Given the description of an element on the screen output the (x, y) to click on. 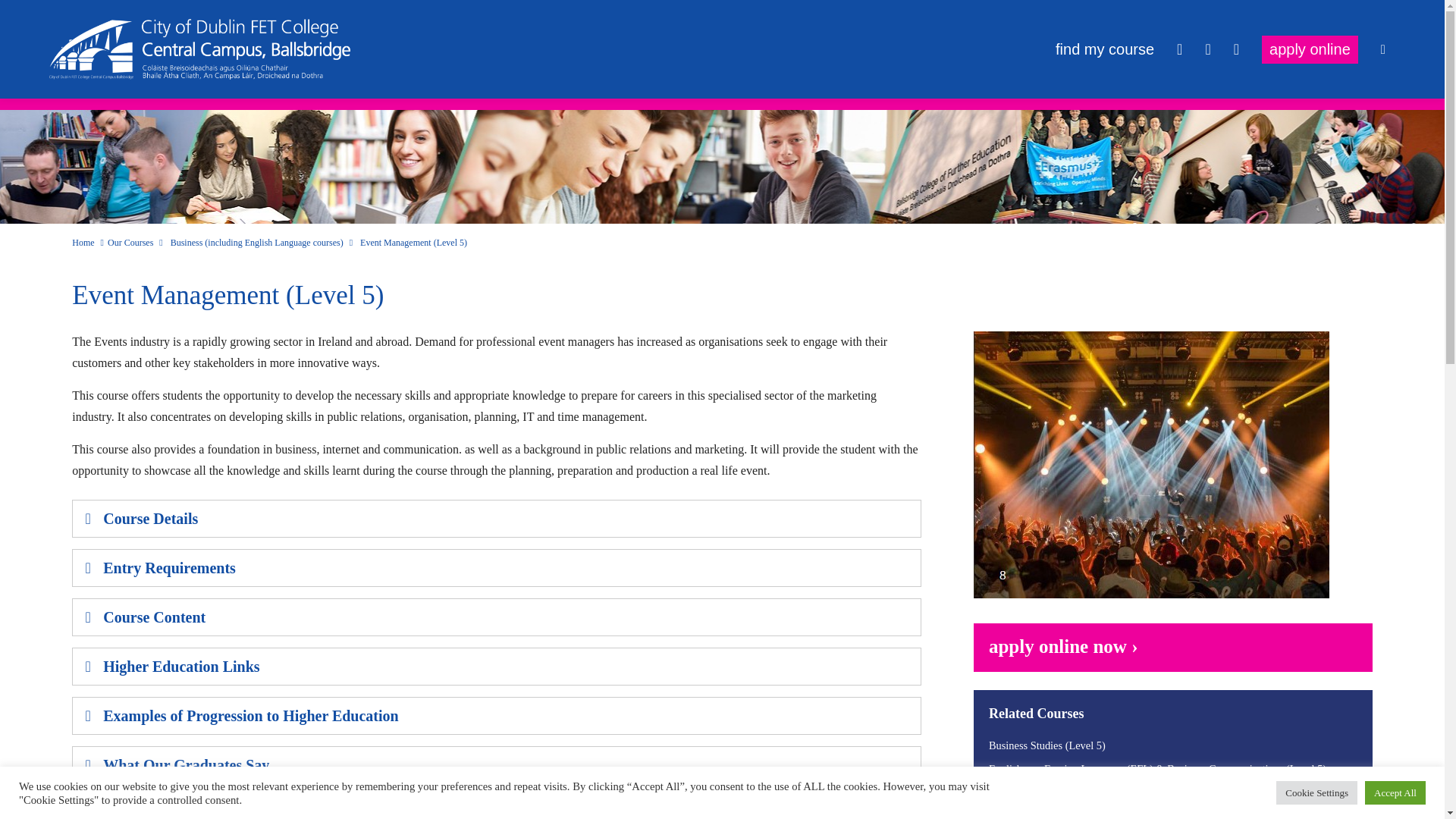
apply online (1310, 49)
find my course (1104, 48)
